Given the description of an element on the screen output the (x, y) to click on. 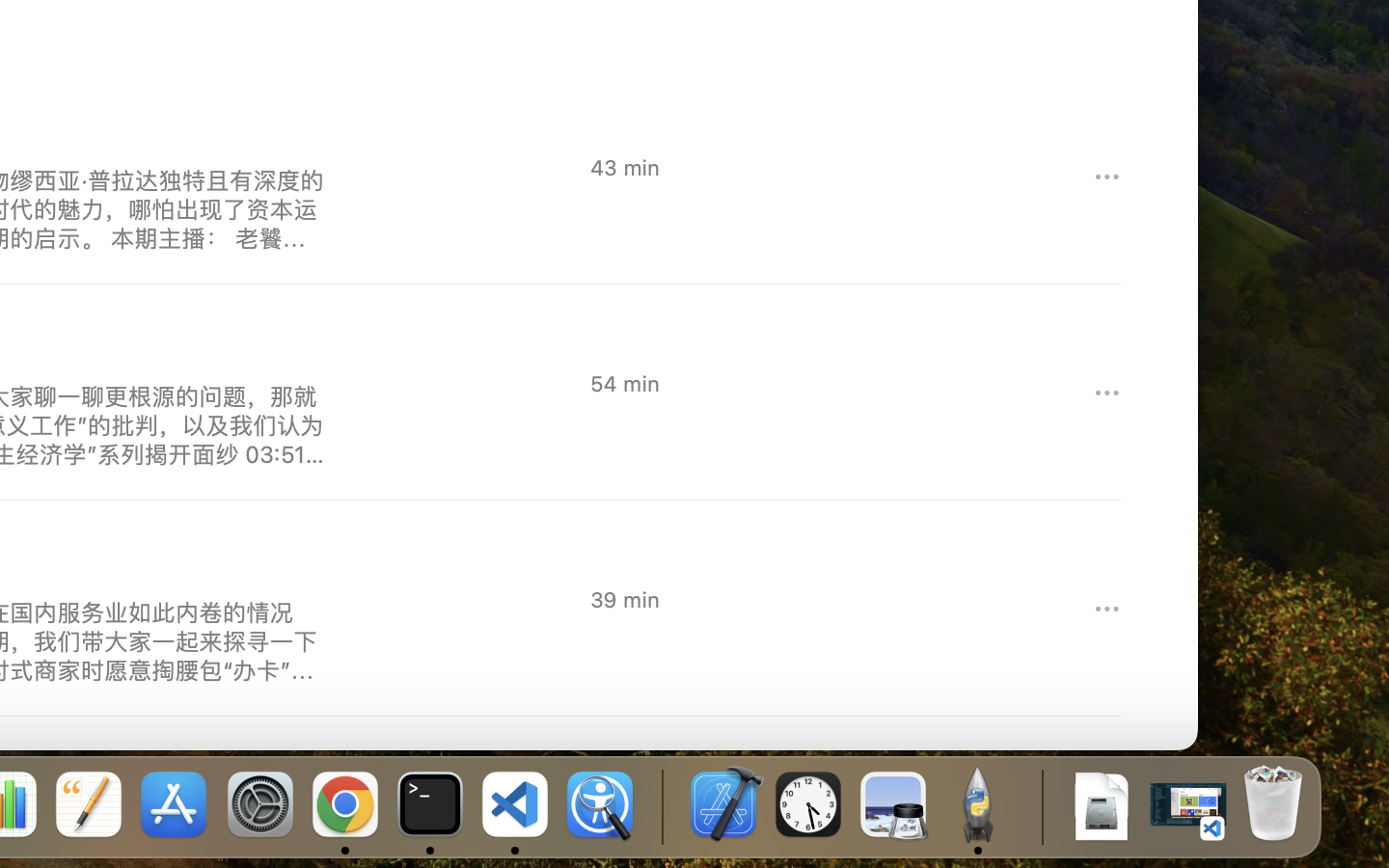
0.4285714328289032 Element type: AXDockItem (660, 805)
